Given the description of an element on the screen output the (x, y) to click on. 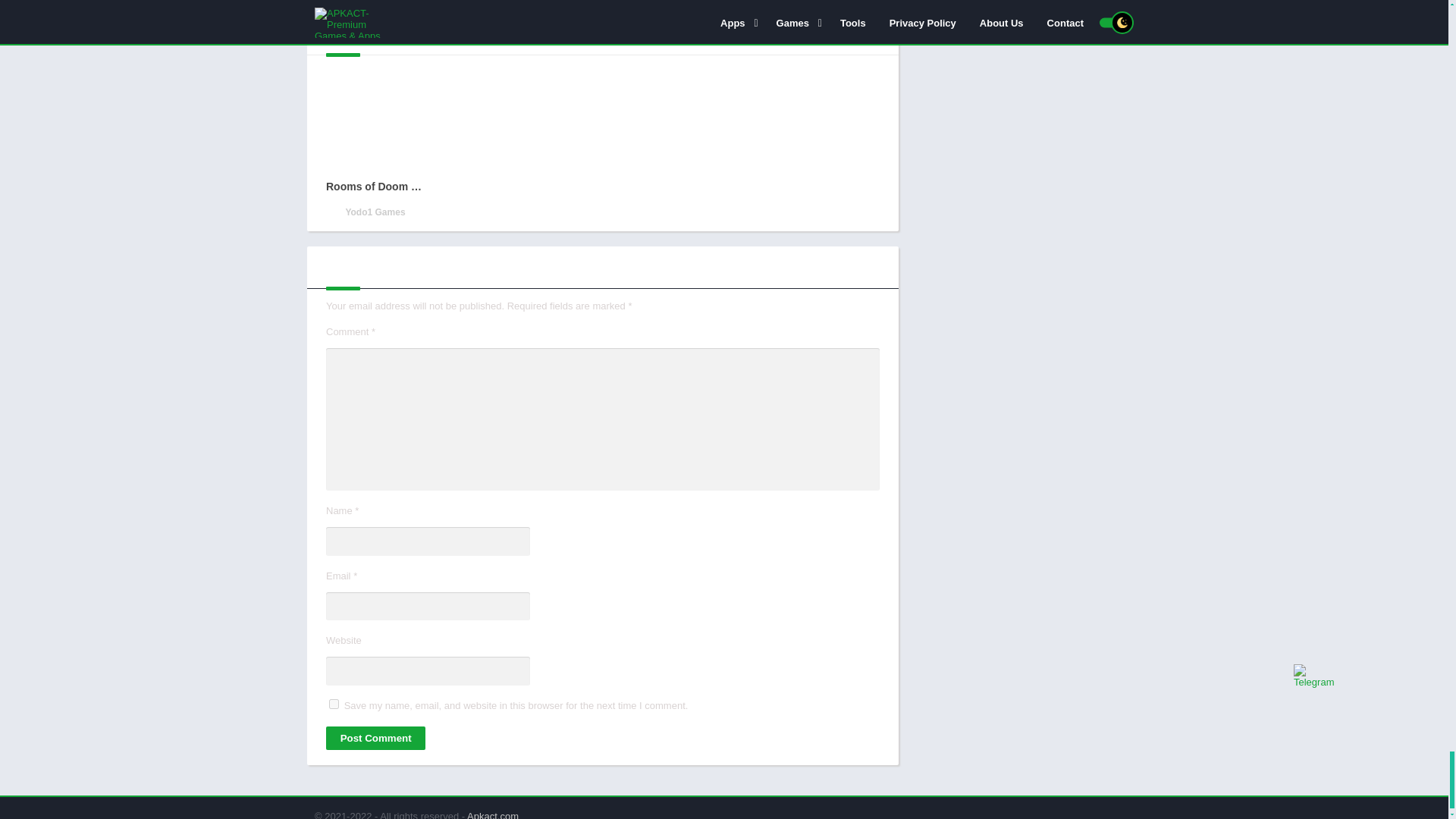
yes (334, 704)
Post Comment (375, 738)
